Given the description of an element on the screen output the (x, y) to click on. 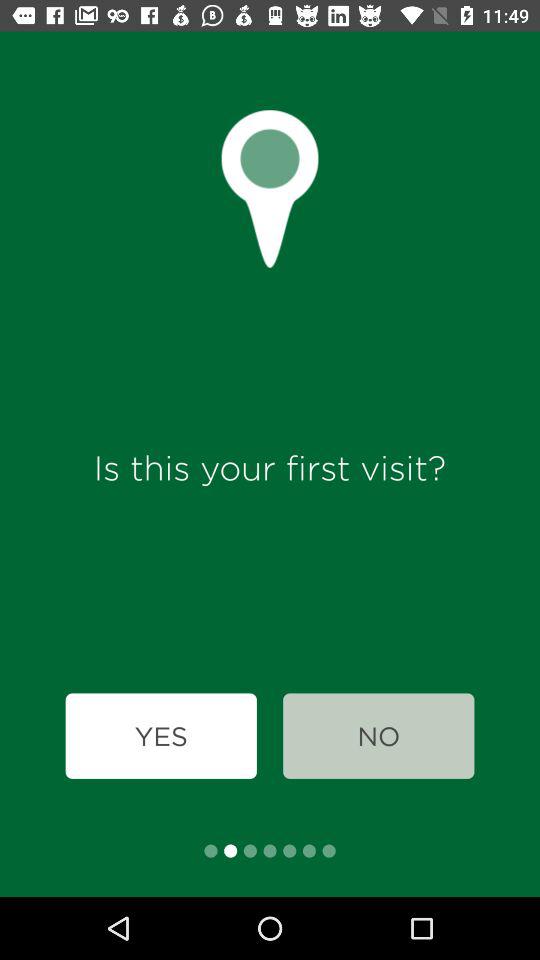
select the icon below is this your icon (378, 735)
